Given the description of an element on the screen output the (x, y) to click on. 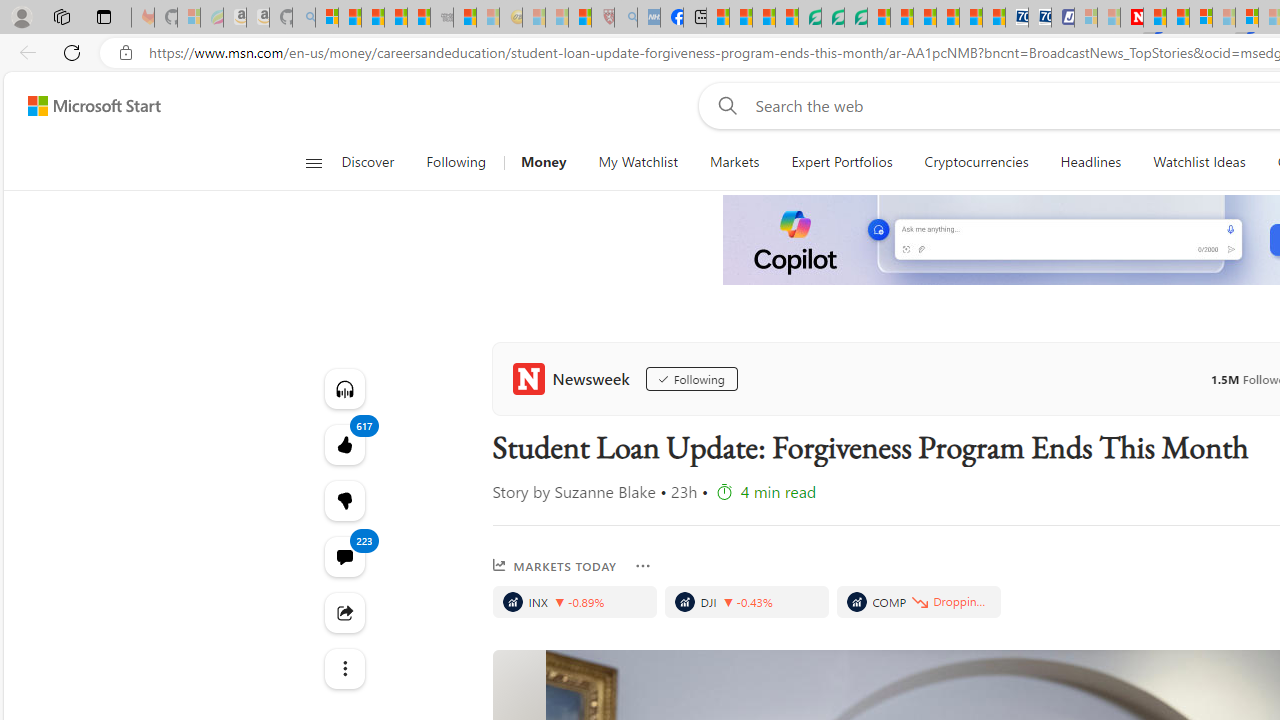
Cheap Car Rentals - Save70.com (1016, 17)
Trusted Community Engagement and Contributions | Guidelines (1155, 17)
Open navigation menu (313, 162)
MSNBC - MSN (717, 17)
Watchlist Ideas (1199, 162)
Expert Portfolios (842, 162)
New Report Confirms 2023 Was Record Hot | Watch (419, 17)
617 Like (343, 444)
World - MSN (763, 17)
Combat Siege (442, 17)
